Given the description of an element on the screen output the (x, y) to click on. 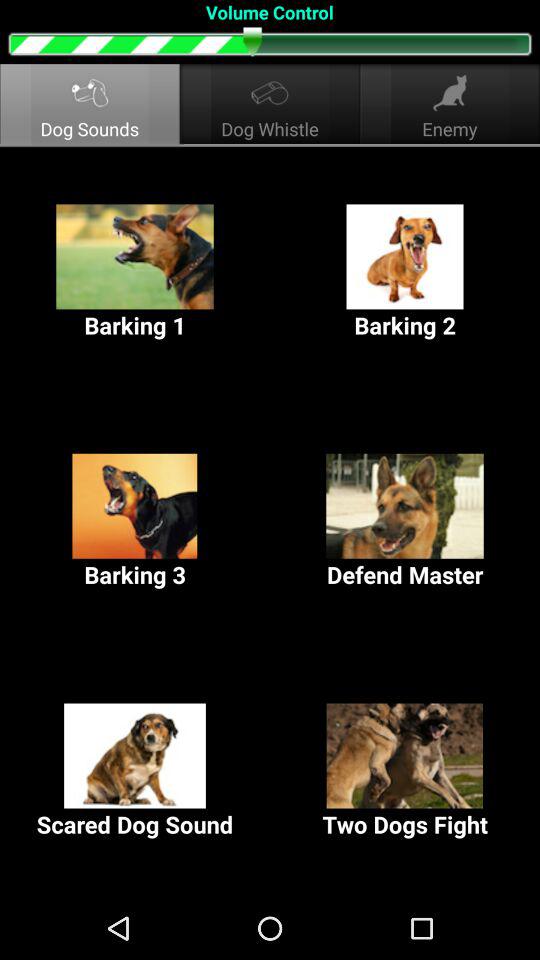
open the button next to the barking 3 (405, 521)
